Given the description of an element on the screen output the (x, y) to click on. 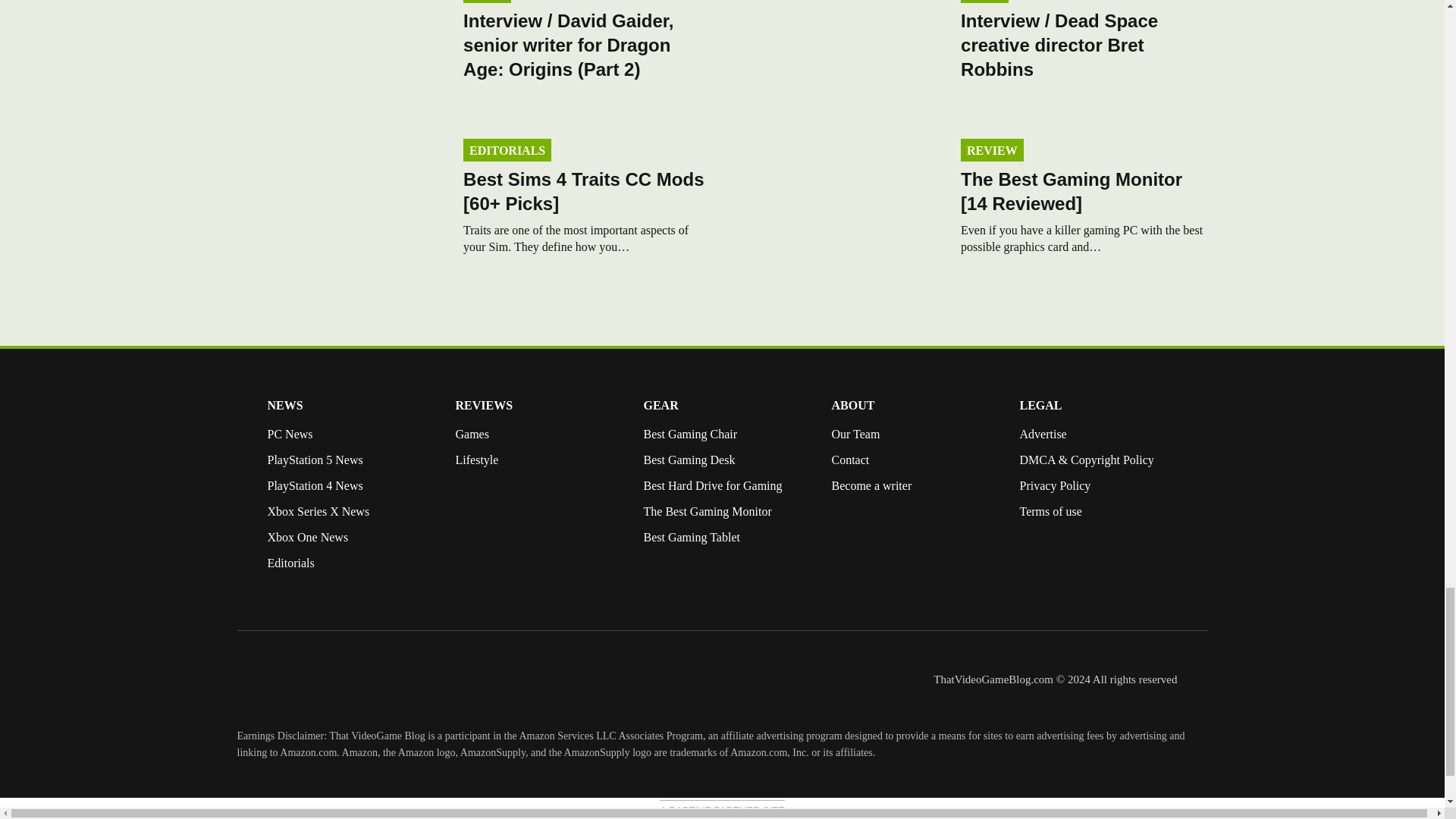
DMCA.com Protection Program (1049, 572)
